Given the description of an element on the screen output the (x, y) to click on. 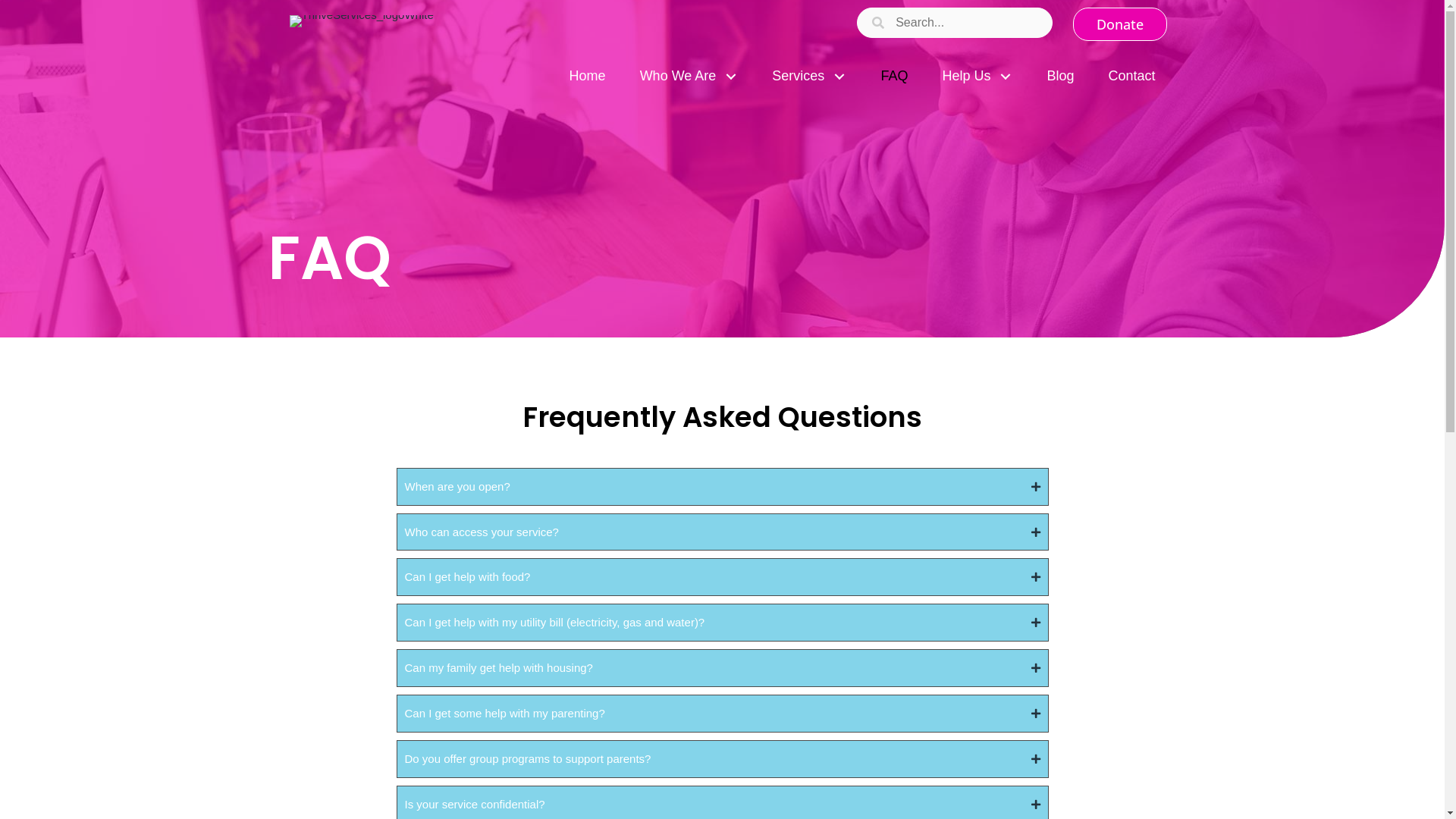
Contact Element type: text (1131, 76)
Donate Element type: text (1120, 23)
Home Element type: text (587, 76)
ThriveServices_logoWhite Element type: hover (361, 21)
FAQ Element type: text (894, 76)
Services Element type: text (808, 76)
Blog Element type: text (1060, 76)
Help Us Element type: text (976, 76)
Who We Are Element type: text (688, 76)
